Given the description of an element on the screen output the (x, y) to click on. 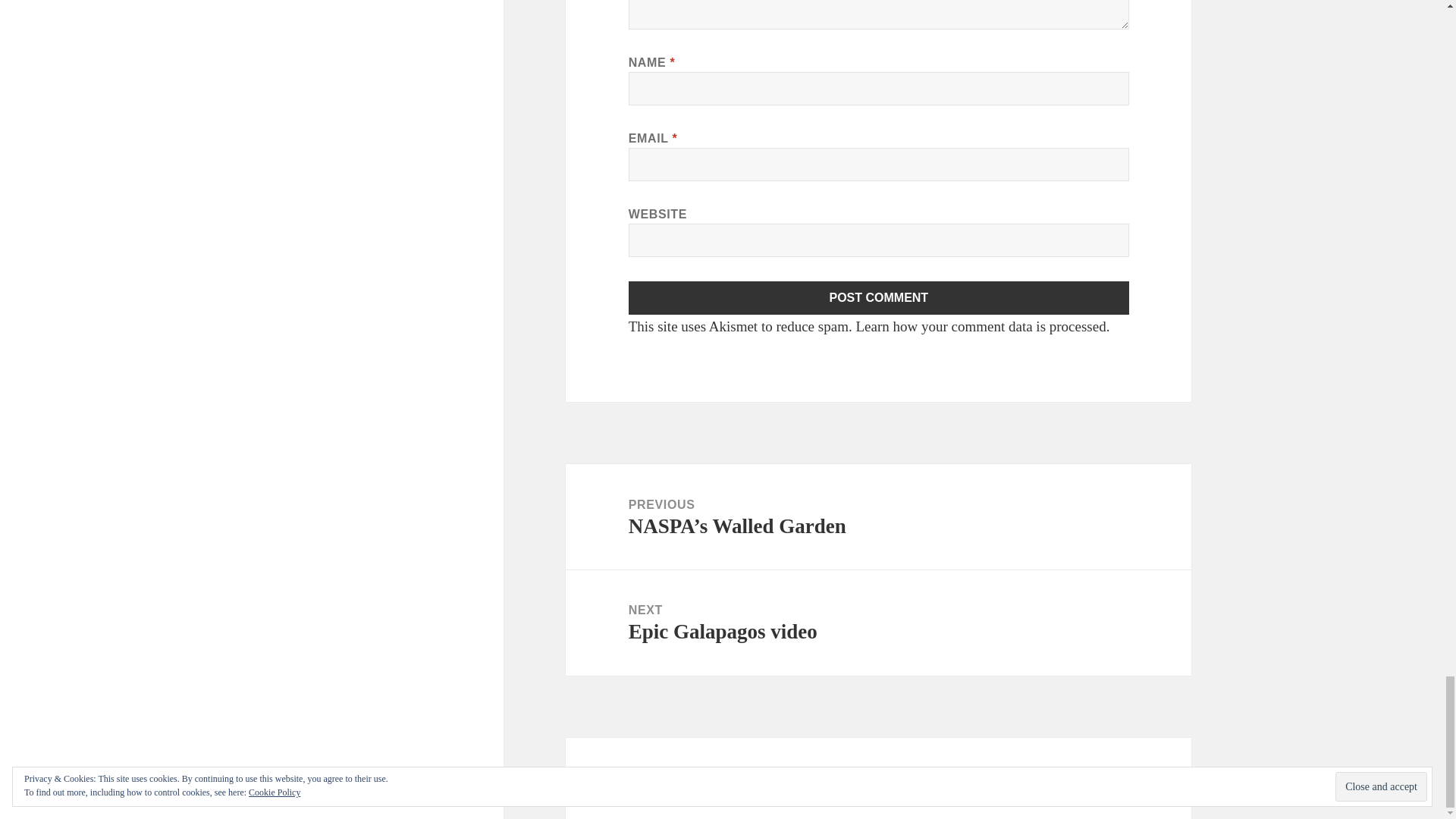
Post Comment (878, 297)
